Given the description of an element on the screen output the (x, y) to click on. 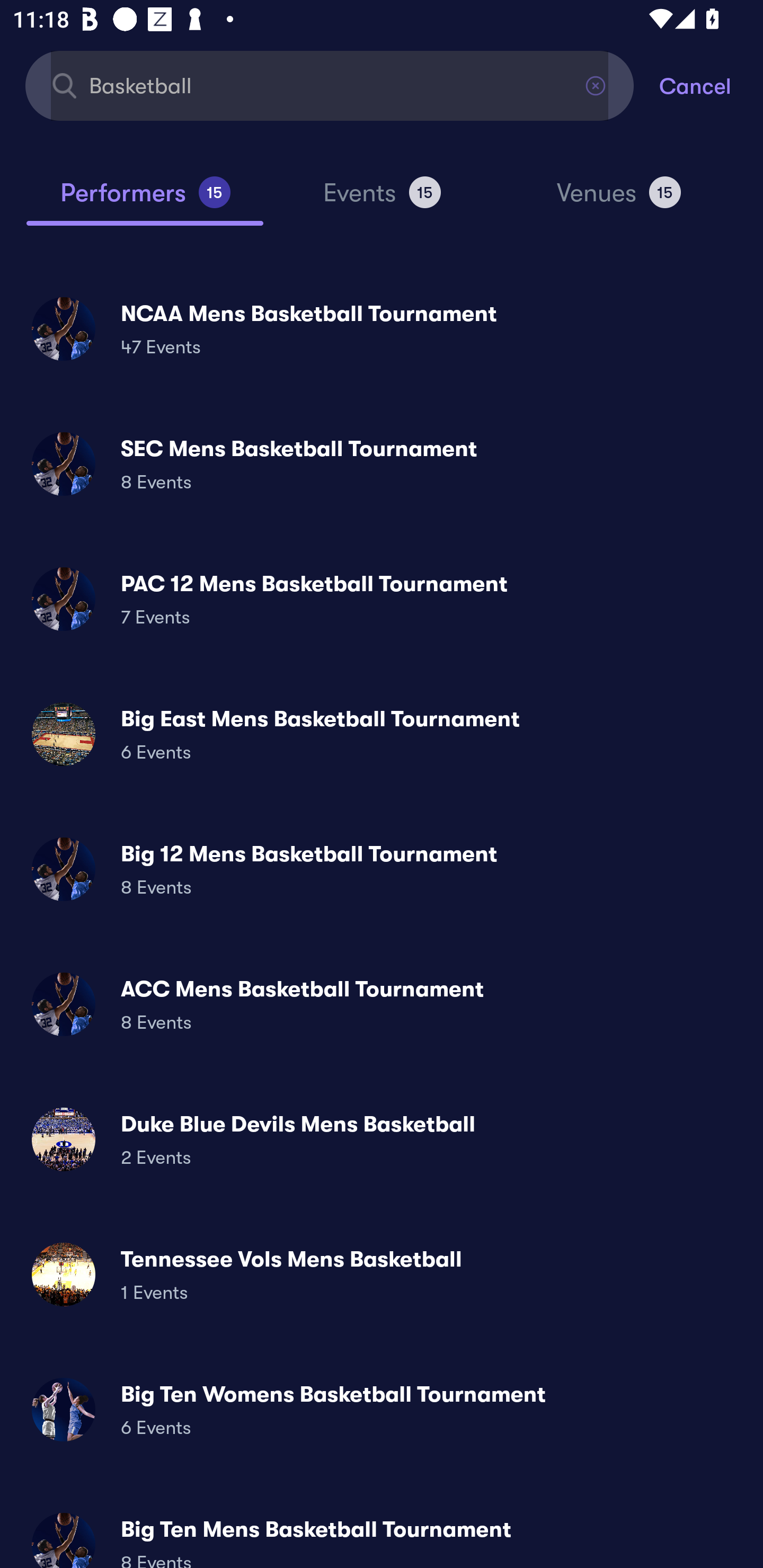
Basketball Find (329, 85)
Basketball Find (329, 85)
Cancel (711, 85)
Performers 15 (144, 200)
Events 15 (381, 200)
Venues 15 (618, 200)
NCAA Mens Basketball Tournament 47 Events (381, 328)
SEC Mens Basketball Tournament 8 Events (381, 464)
PAC 12 Mens Basketball Tournament 7 Events (381, 598)
Big East Mens Basketball Tournament 6 Events (381, 734)
Big 12 Mens Basketball Tournament 8 Events (381, 869)
ACC Mens Basketball Tournament 8 Events (381, 1004)
Duke Blue Devils Mens Basketball 2 Events (381, 1138)
Tennessee Vols Mens Basketball 1 Events (381, 1273)
Big Ten Womens Basketball Tournament 6 Events (381, 1409)
Big Ten Mens Basketball Tournament 8 Events (381, 1532)
